Given the description of an element on the screen output the (x, y) to click on. 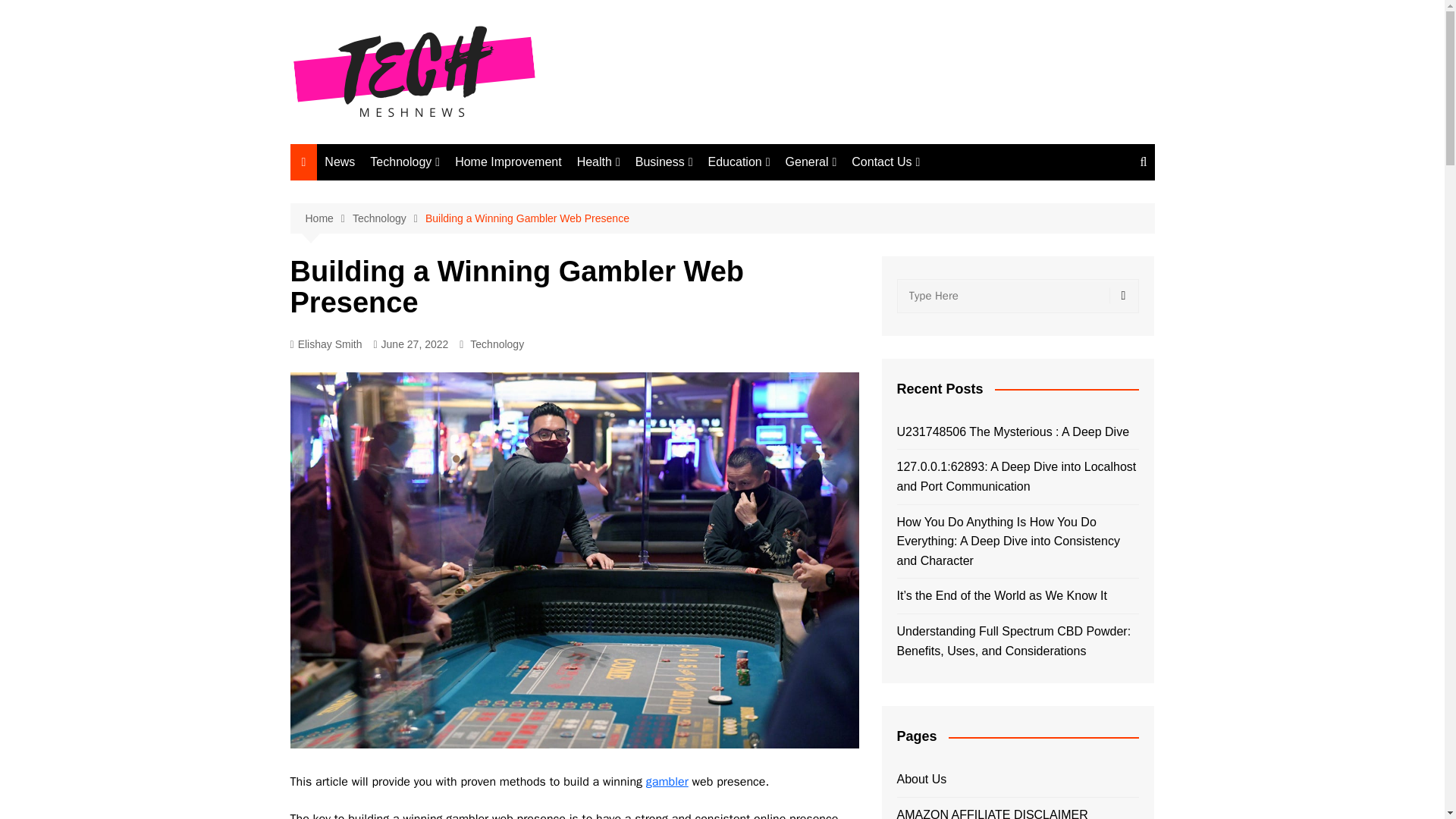
Finance (710, 192)
Education (738, 162)
SEO (445, 342)
Auto (860, 217)
Health (598, 162)
Construction (710, 242)
Technology (404, 162)
Digital Marketing (445, 292)
Social Media (445, 367)
Business (663, 162)
Diseases (652, 242)
News (339, 162)
Exams (783, 242)
Computers (445, 217)
Online-Education (783, 217)
